Given the description of an element on the screen output the (x, y) to click on. 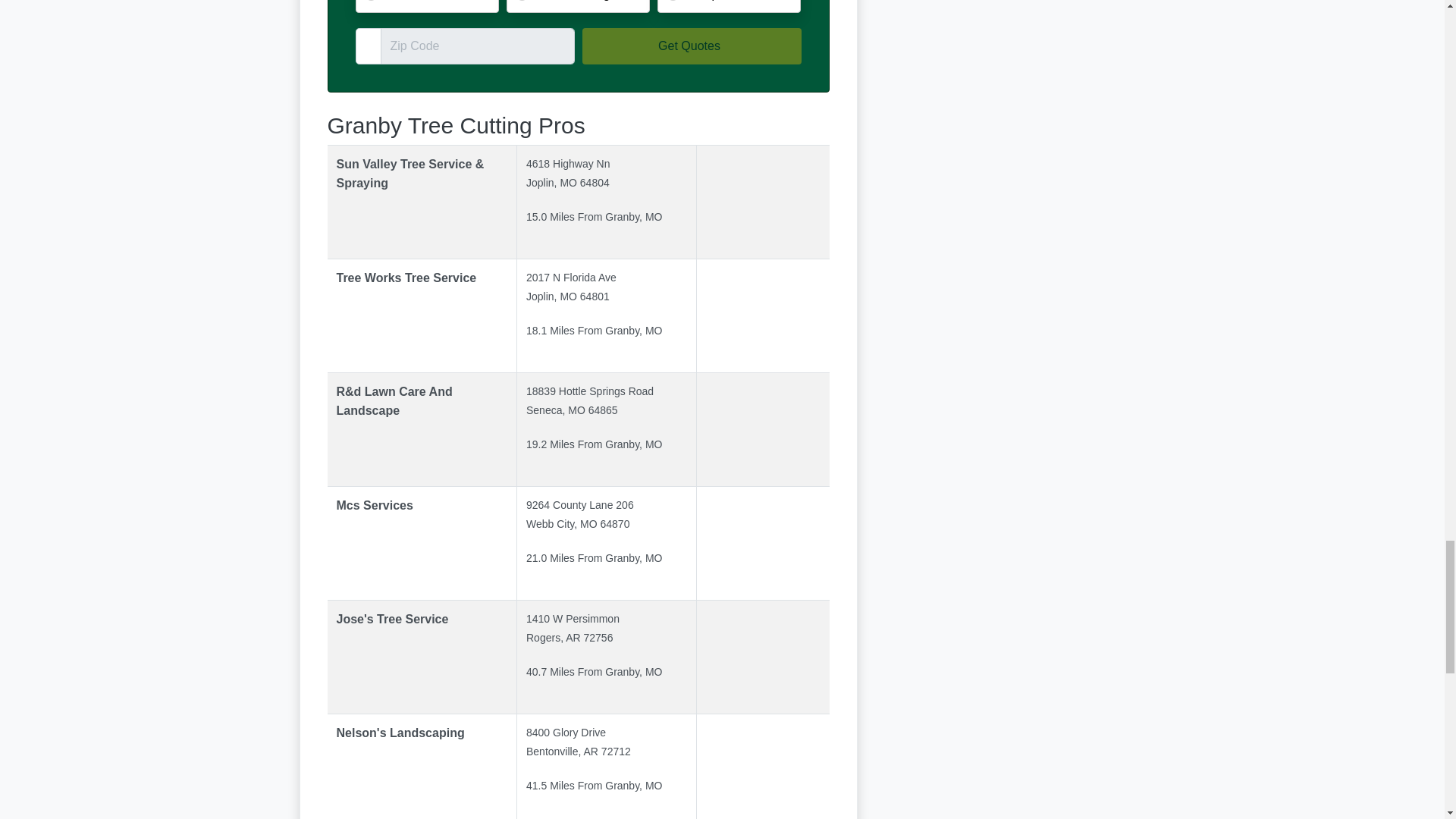
Get Quotes (692, 45)
